Given the description of an element on the screen output the (x, y) to click on. 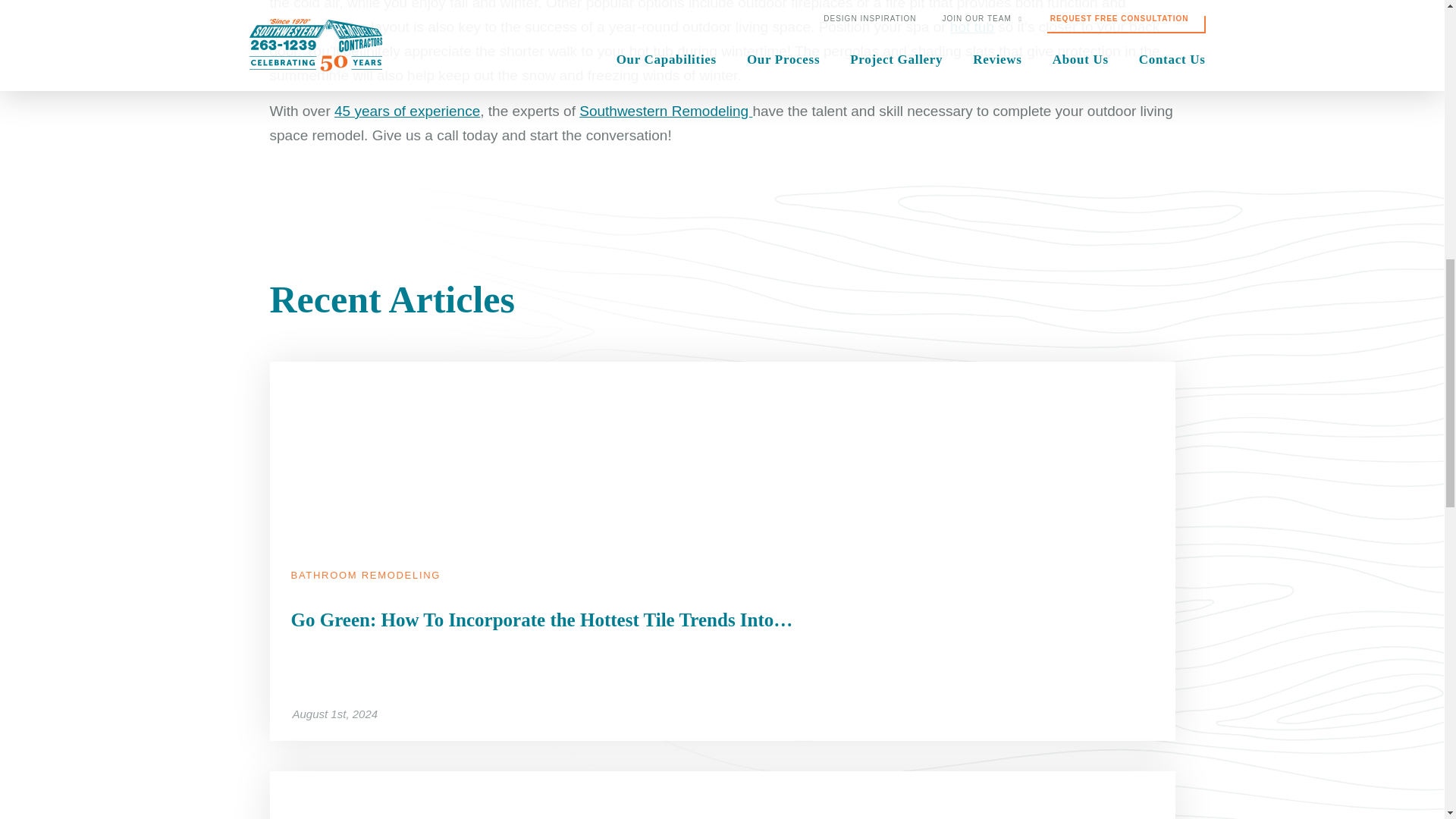
Southwestern Remodeling (665, 110)
hot tub (972, 26)
45 years of experience (407, 110)
